Given the description of an element on the screen output the (x, y) to click on. 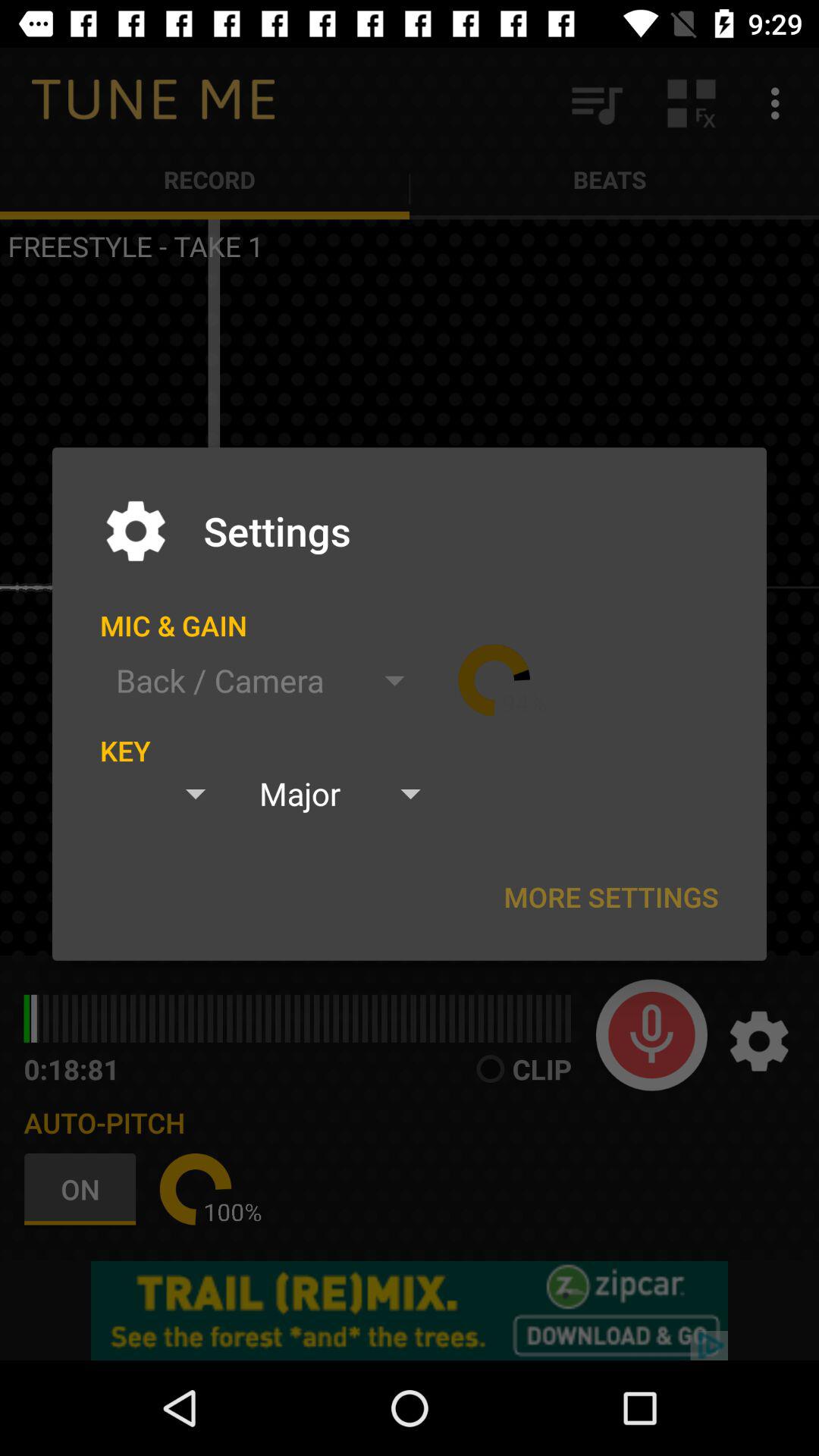
click app to the right of record (595, 103)
